Given the description of an element on the screen output the (x, y) to click on. 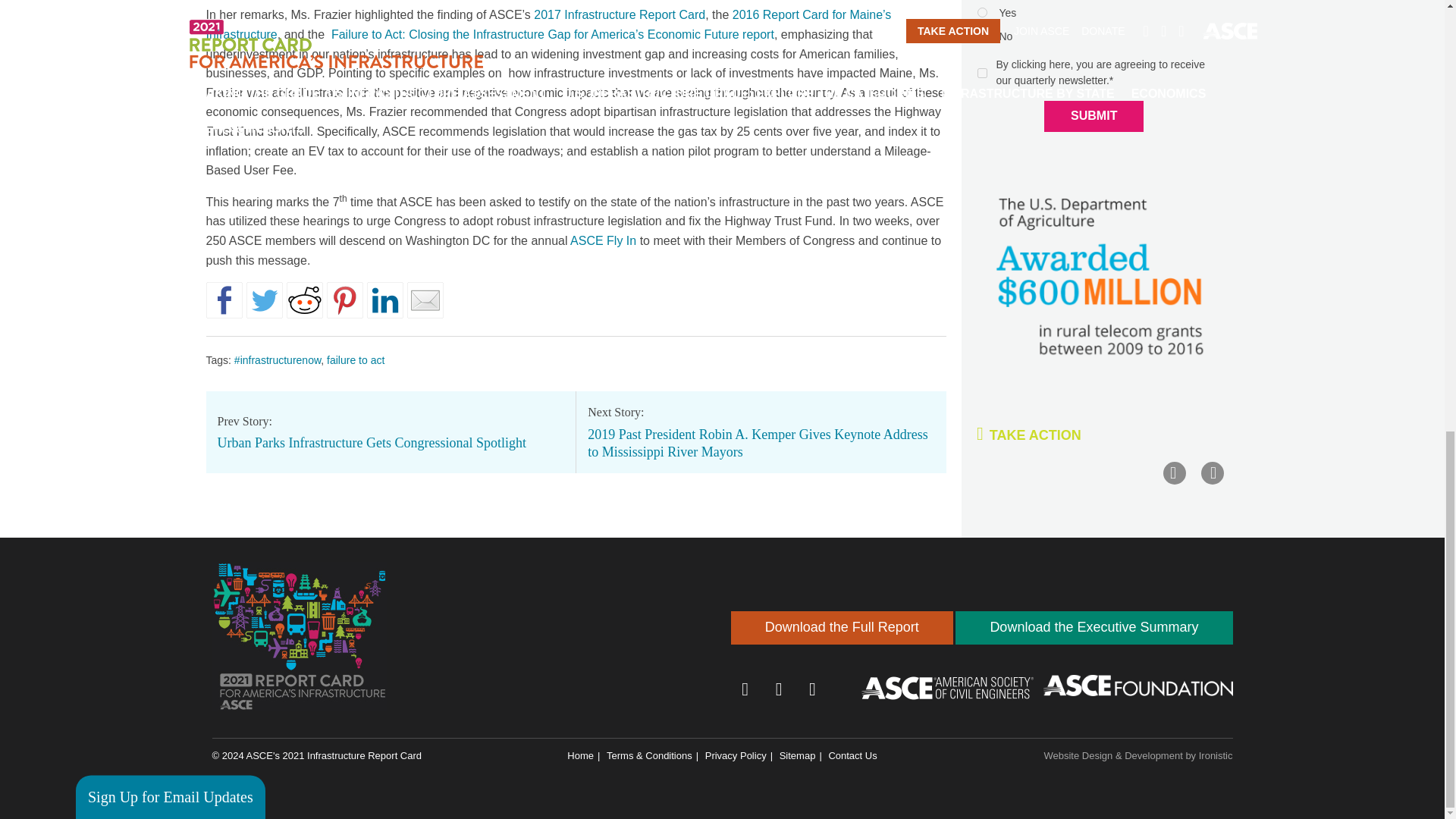
Share on Facebook (224, 299)
Yes (981, 12)
Submit (1092, 115)
Yes (92, 261)
Share on Twitter (264, 299)
Pin it with Pinterest (344, 299)
No (92, 285)
No (981, 35)
Submit (136, 393)
Share on Reddit (304, 299)
